Given the description of an element on the screen output the (x, y) to click on. 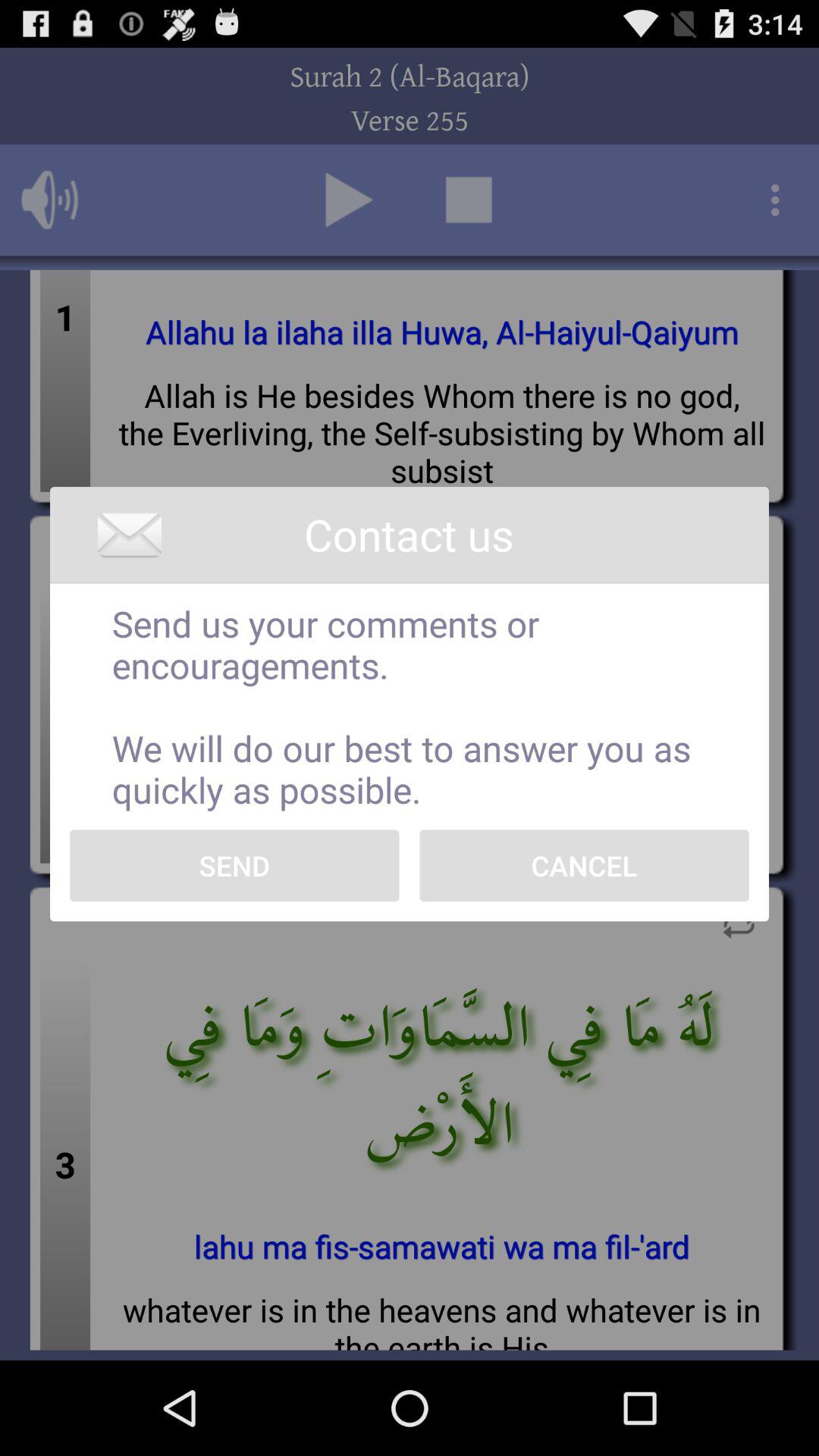
select item above send item (409, 706)
